Given the description of an element on the screen output the (x, y) to click on. 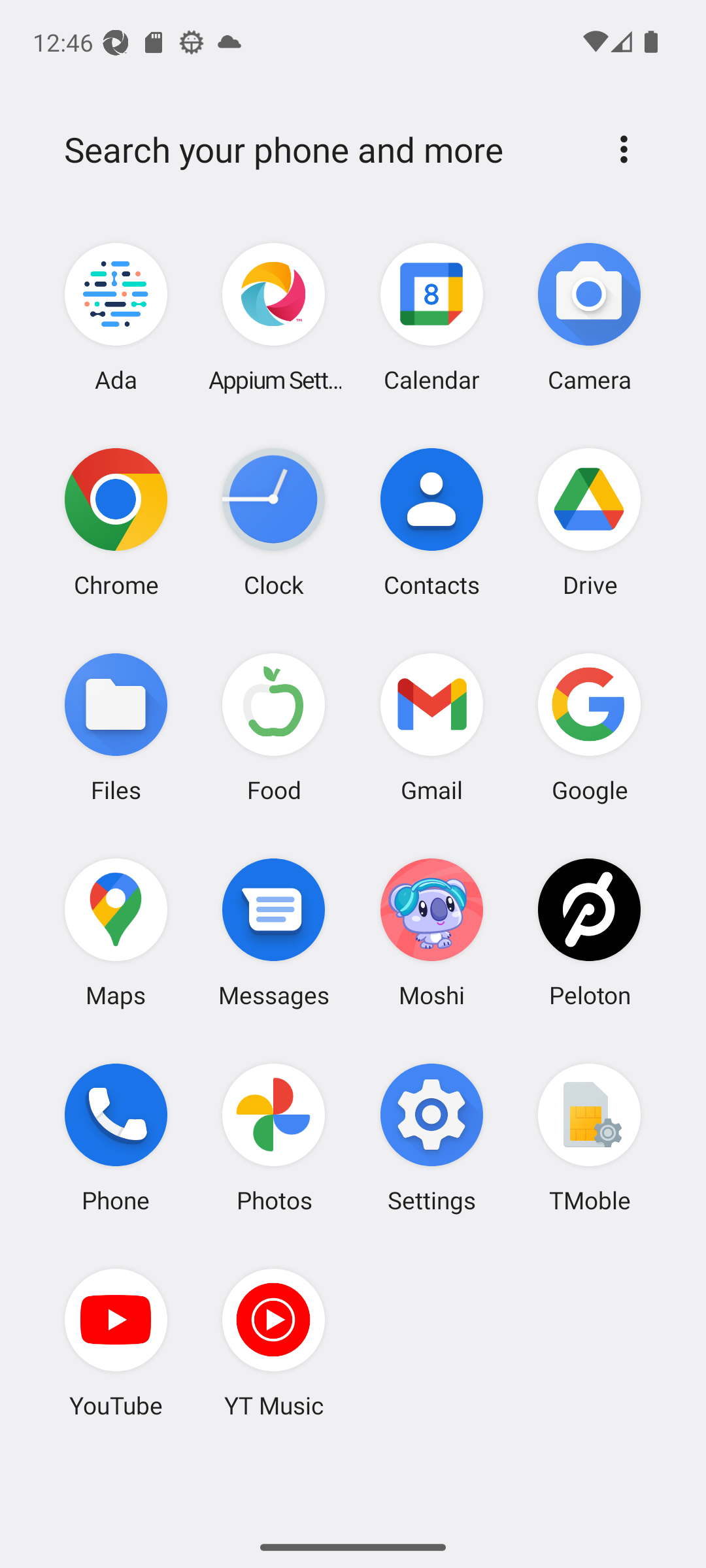
Search your phone and more (321, 149)
Preferences (623, 149)
Ada (115, 317)
Appium Settings (273, 317)
Calendar (431, 317)
Camera (589, 317)
Chrome (115, 522)
Clock (273, 522)
Contacts (431, 522)
Drive (589, 522)
Files (115, 726)
Food (273, 726)
Gmail (431, 726)
Google (589, 726)
Maps (115, 931)
Messages (273, 931)
Moshi (431, 931)
Peloton (589, 931)
Phone (115, 1137)
Photos (273, 1137)
Settings (431, 1137)
TMoble (589, 1137)
YouTube (115, 1342)
YT Music (273, 1342)
